Given the description of an element on the screen output the (x, y) to click on. 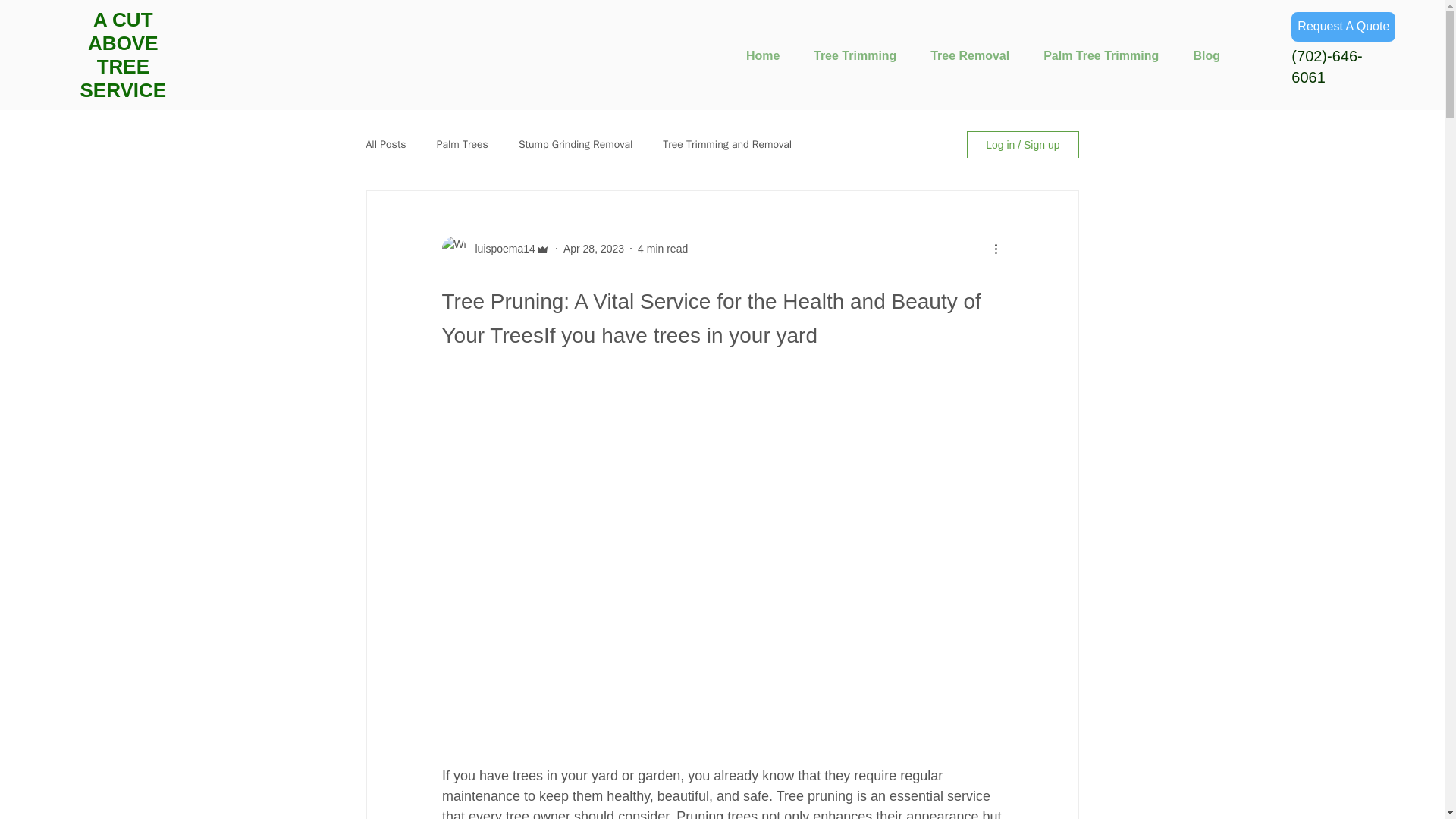
Palm Tree Trimming (1101, 55)
A CUT ABOVE (122, 31)
Apr 28, 2023 (593, 248)
4 min read (662, 248)
Blog (1206, 55)
Stump Grinding Removal (574, 144)
Home (762, 55)
Palm Trees (461, 144)
All Posts (385, 144)
Request A Quote (1342, 26)
